Given the description of an element on the screen output the (x, y) to click on. 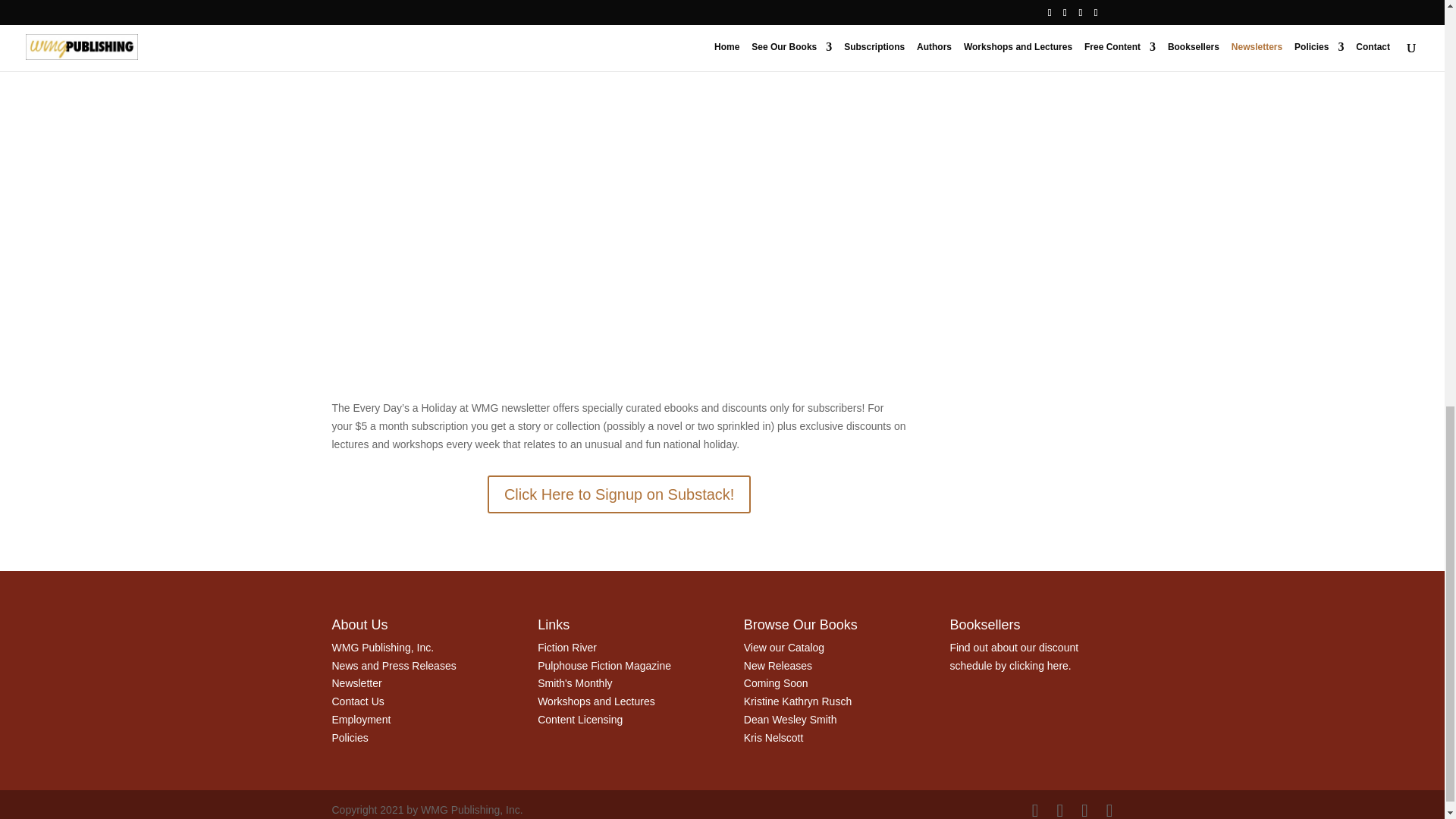
News and Press Releases (394, 665)
Smith's Monthly (574, 683)
Employment (361, 719)
Workshops and Lectures (596, 701)
View our Catalog (784, 647)
New Releases (778, 665)
Policies (349, 737)
WMG Publishing, Inc. (382, 647)
Pulphouse Fiction Magazine (604, 665)
